Given the description of an element on the screen output the (x, y) to click on. 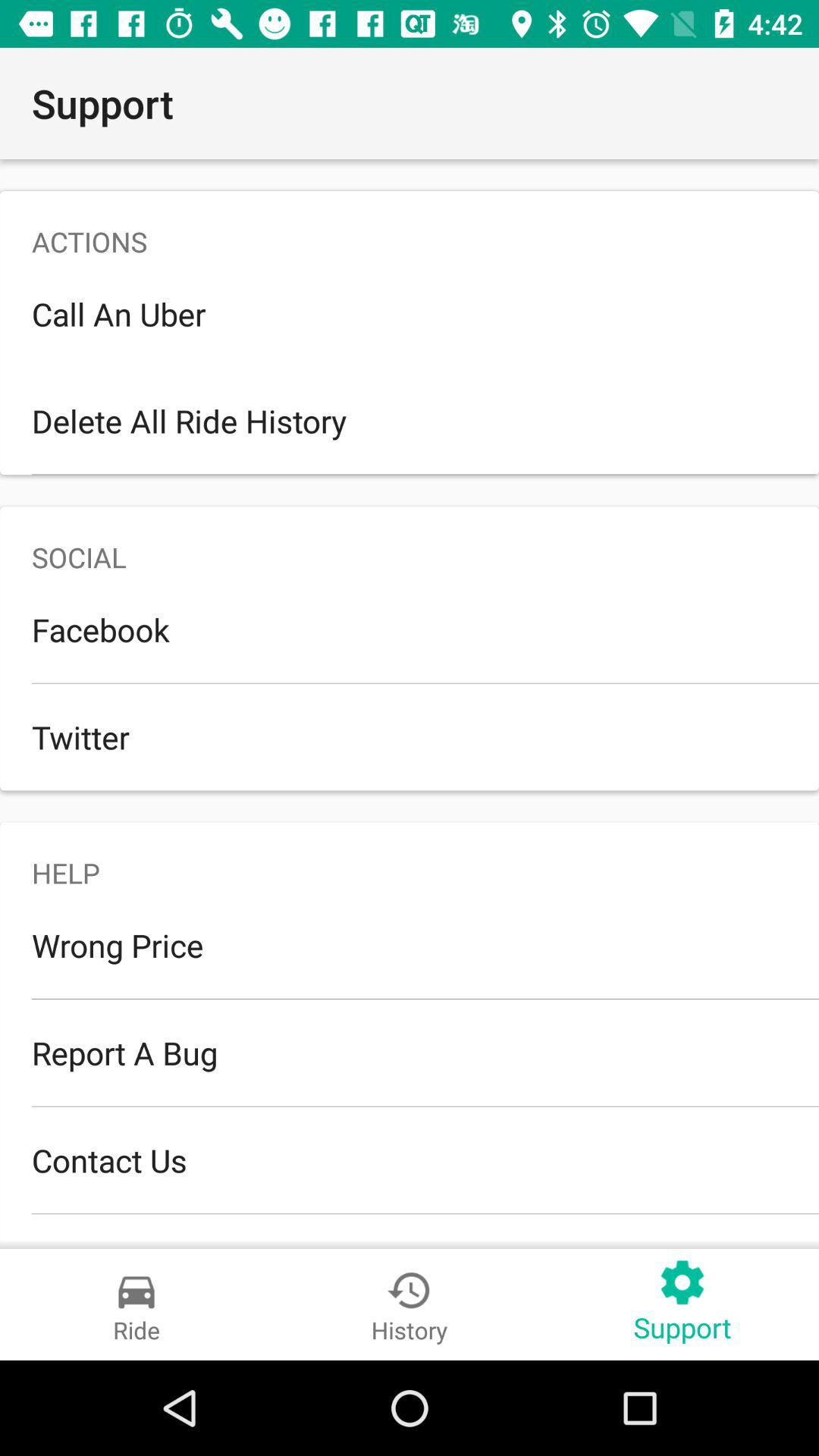
turn off the icon below contact us (409, 1227)
